Given the description of an element on the screen output the (x, y) to click on. 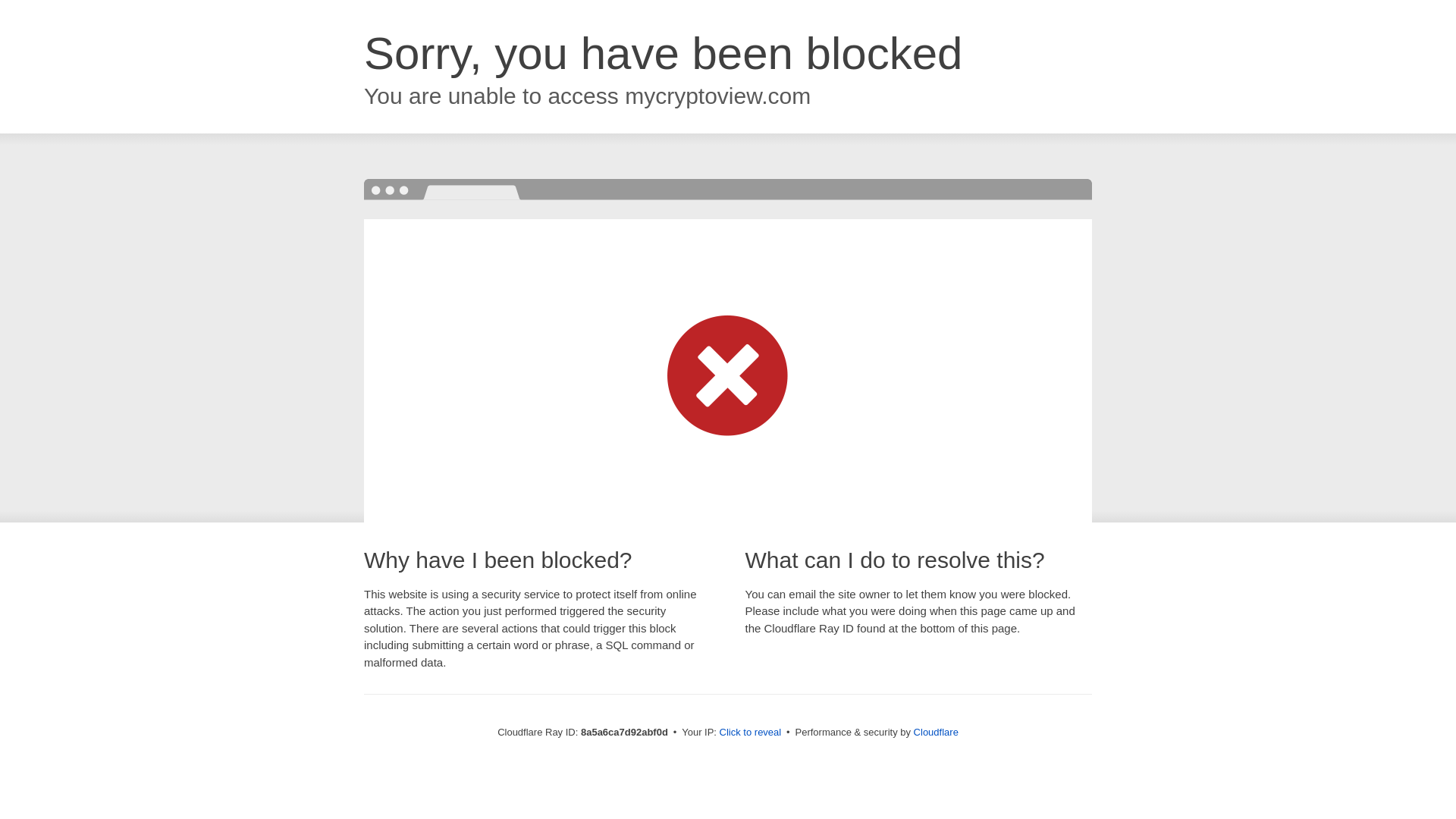
Click to reveal (750, 732)
Cloudflare (936, 731)
